Given the description of an element on the screen output the (x, y) to click on. 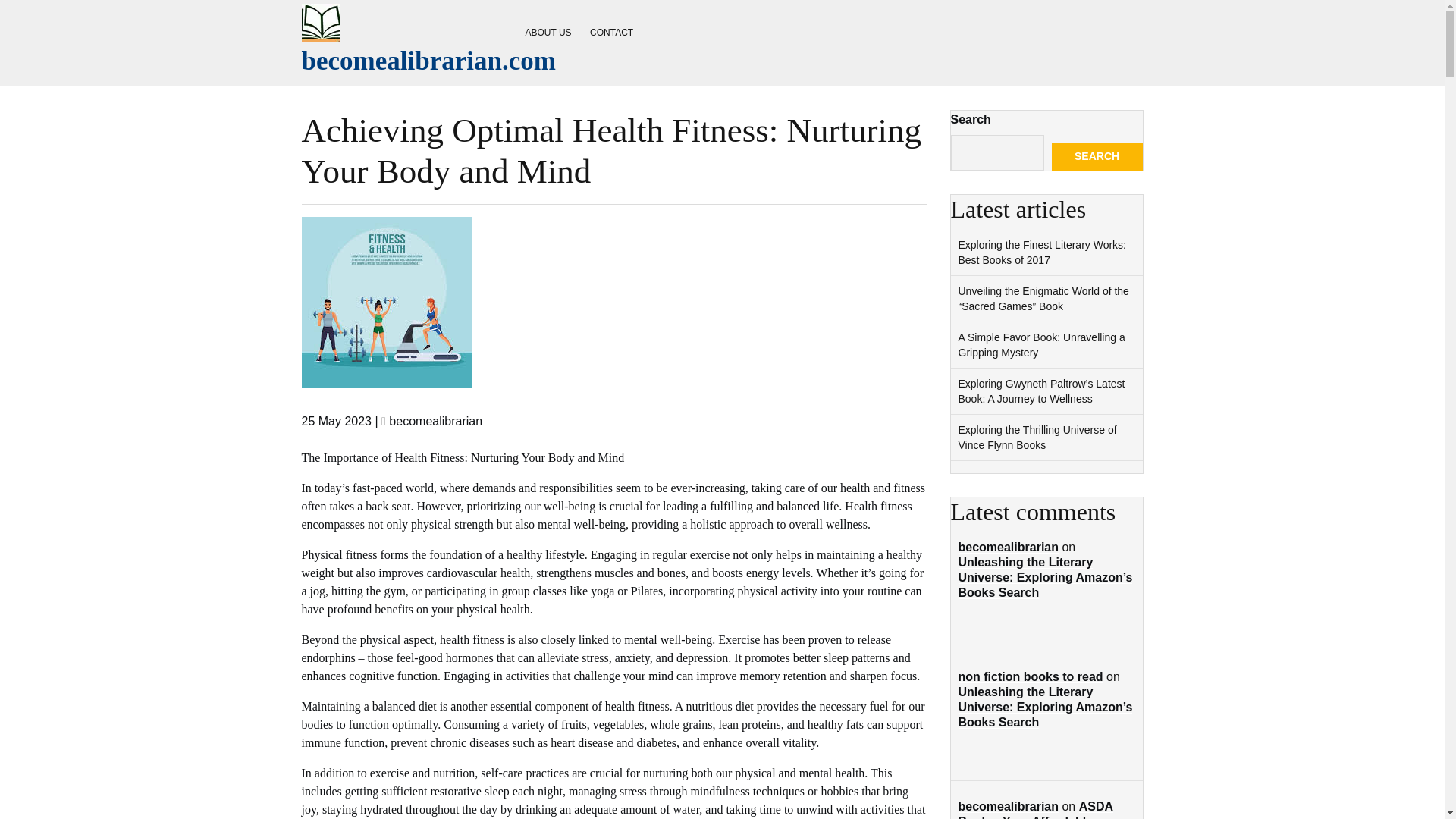
ABOUT US (547, 32)
becomealibrarian (434, 420)
CONTACT (611, 32)
SEARCH (1096, 156)
25 May 2023 (336, 420)
becomealibrarian.com (428, 60)
